Given the description of an element on the screen output the (x, y) to click on. 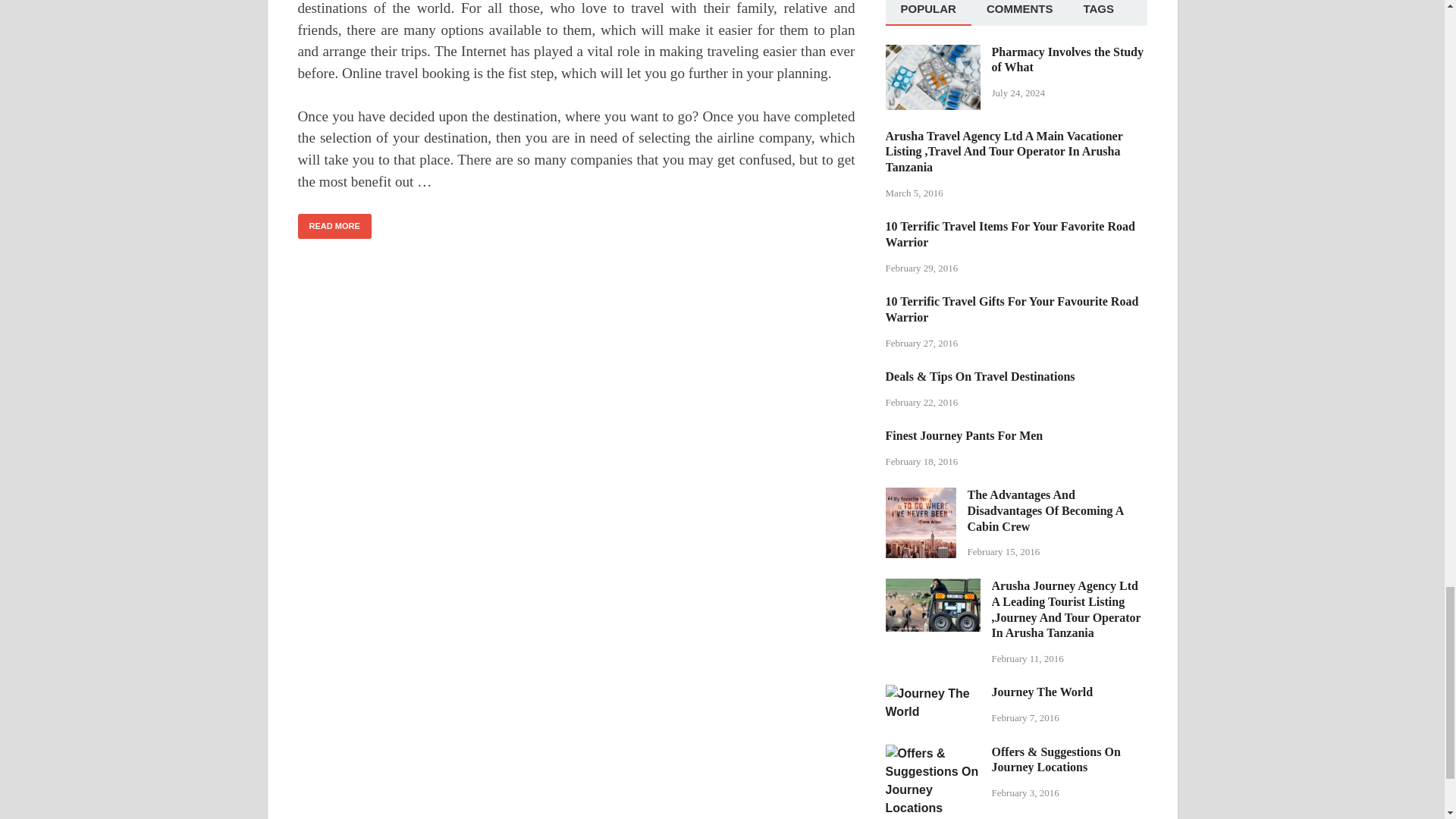
Pharmacy Involves the Study of What (932, 52)
Journey The World (932, 693)
The Advantages And Disadvantages Of Becoming A Cabin Crew (920, 495)
